Given the description of an element on the screen output the (x, y) to click on. 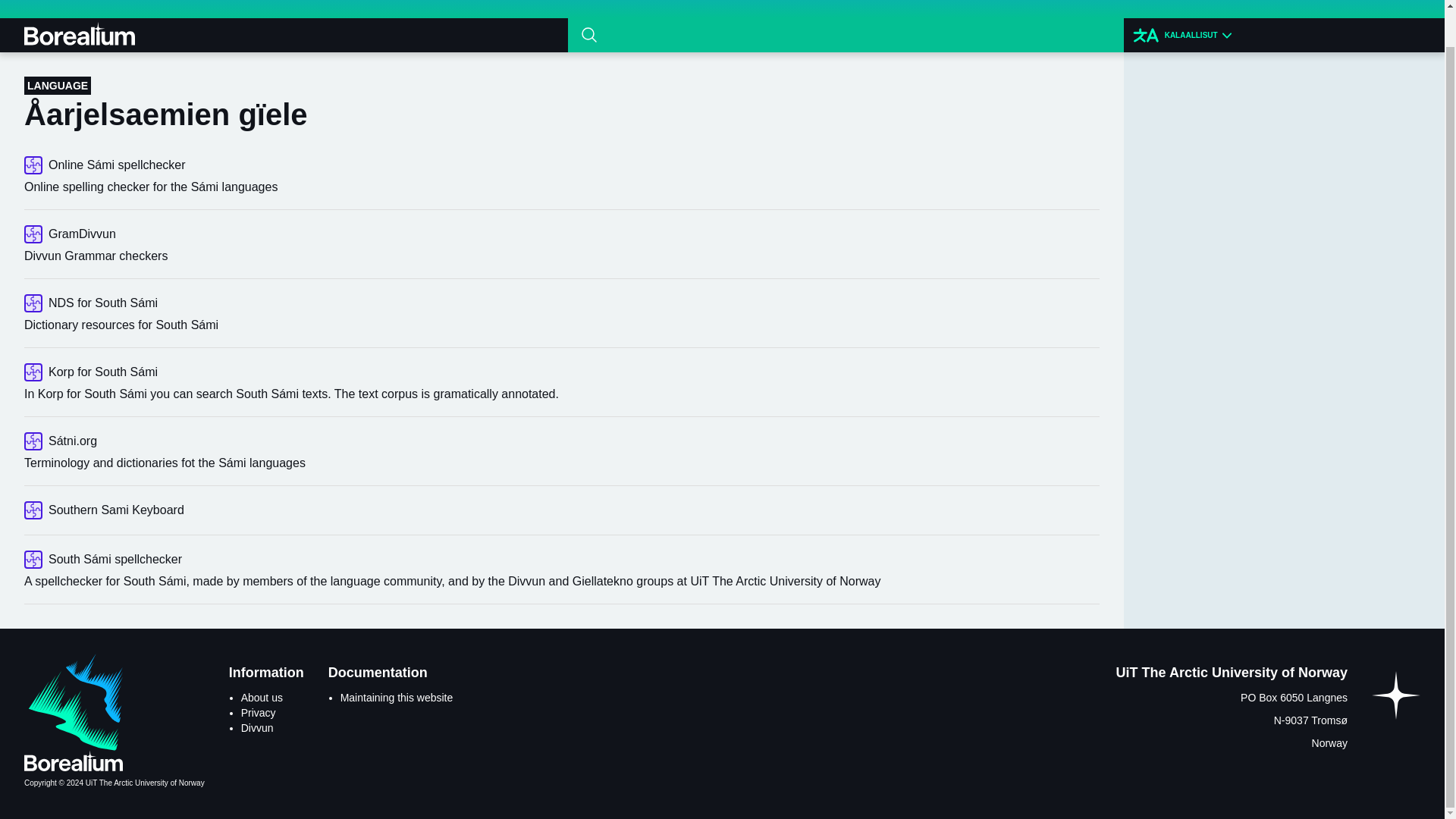
About us (261, 697)
Maintaining this website (396, 697)
Privacy (258, 712)
GramDivvun (561, 234)
Divvun (257, 727)
Southern Sami Keyboard (561, 510)
